Given the description of an element on the screen output the (x, y) to click on. 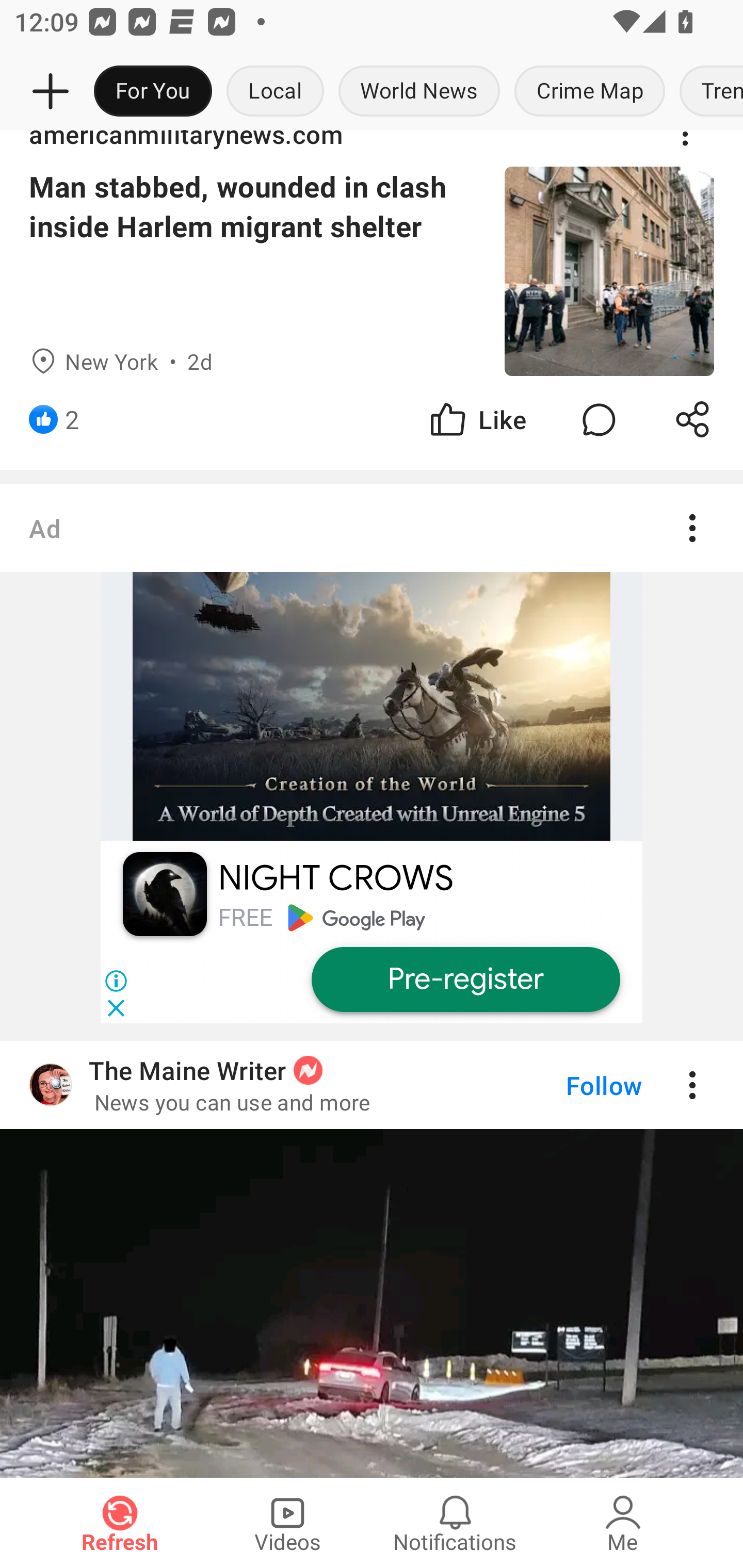
For You (152, 91)
Local (275, 91)
World News (419, 91)
Crime Map (589, 91)
2 (72, 419)
Like (476, 419)
NIGHT CROWS (335, 877)
FREE (245, 916)
Pre-register (464, 979)
The Maine Writer  News you can use and more Follow (371, 1259)
The Maine Writer  News you can use and more Follow (371, 1084)
Follow (569, 1084)
Videos (287, 1522)
Notifications (455, 1522)
Me (622, 1522)
